Given the description of an element on the screen output the (x, y) to click on. 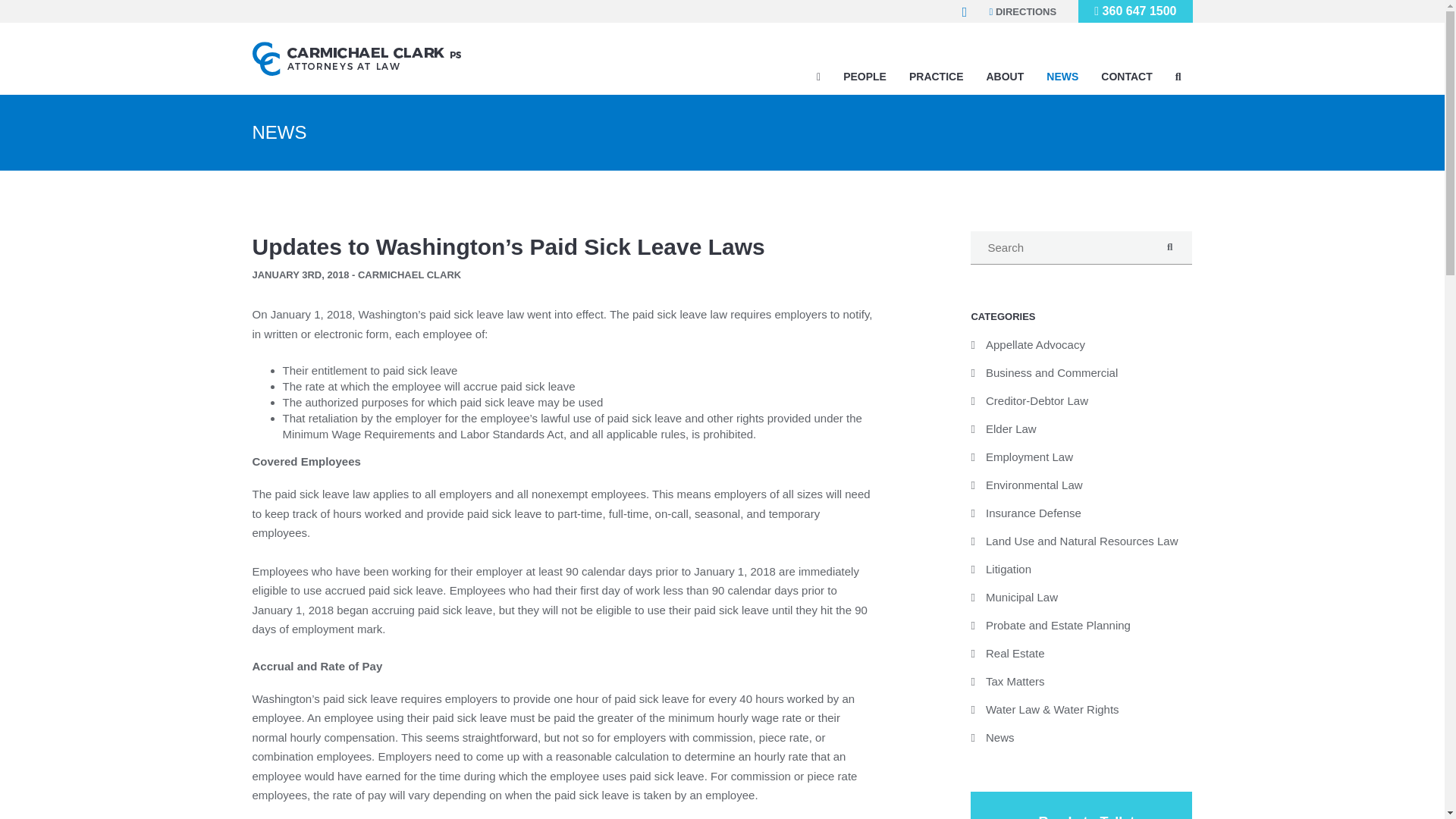
Carmichael Clark (402, 58)
